Given the description of an element on the screen output the (x, y) to click on. 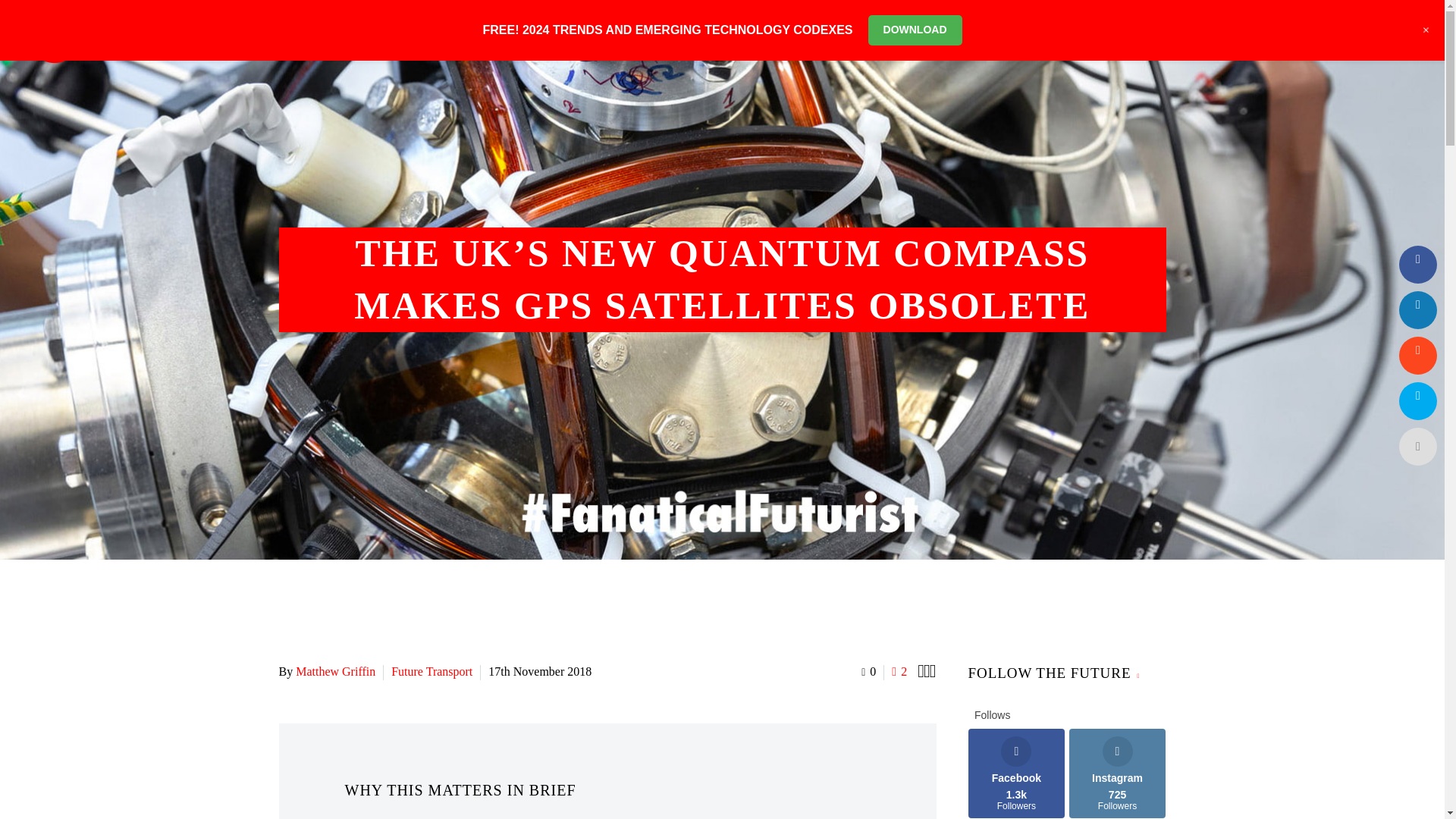
0 (868, 671)
Primary Menu (1402, 37)
View all posts in Future Transport (431, 671)
